Given the description of an element on the screen output the (x, y) to click on. 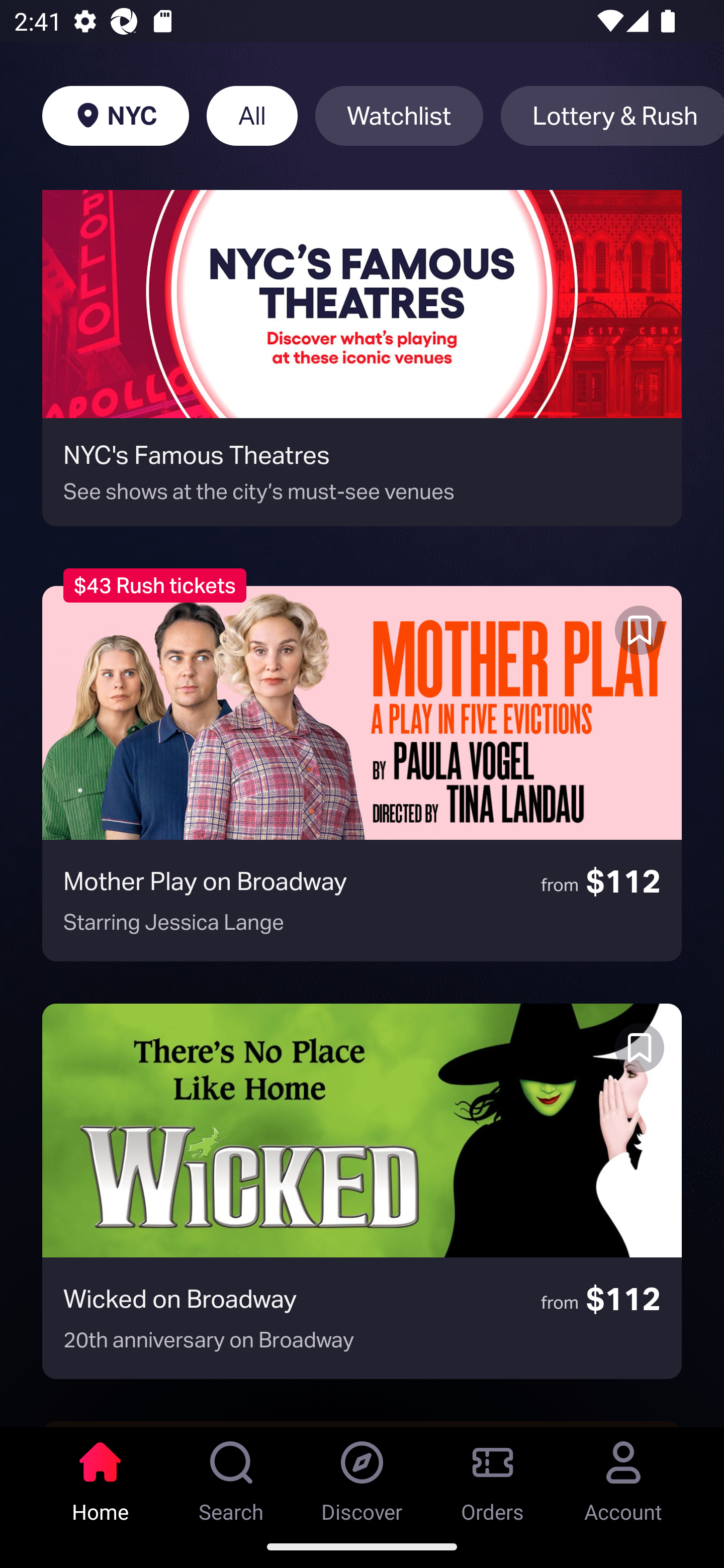
NYC (114, 115)
All (251, 115)
Watchlist (398, 115)
Lottery & Rush (612, 115)
Search (230, 1475)
Discover (361, 1475)
Orders (492, 1475)
Account (623, 1475)
